Given the description of an element on the screen output the (x, y) to click on. 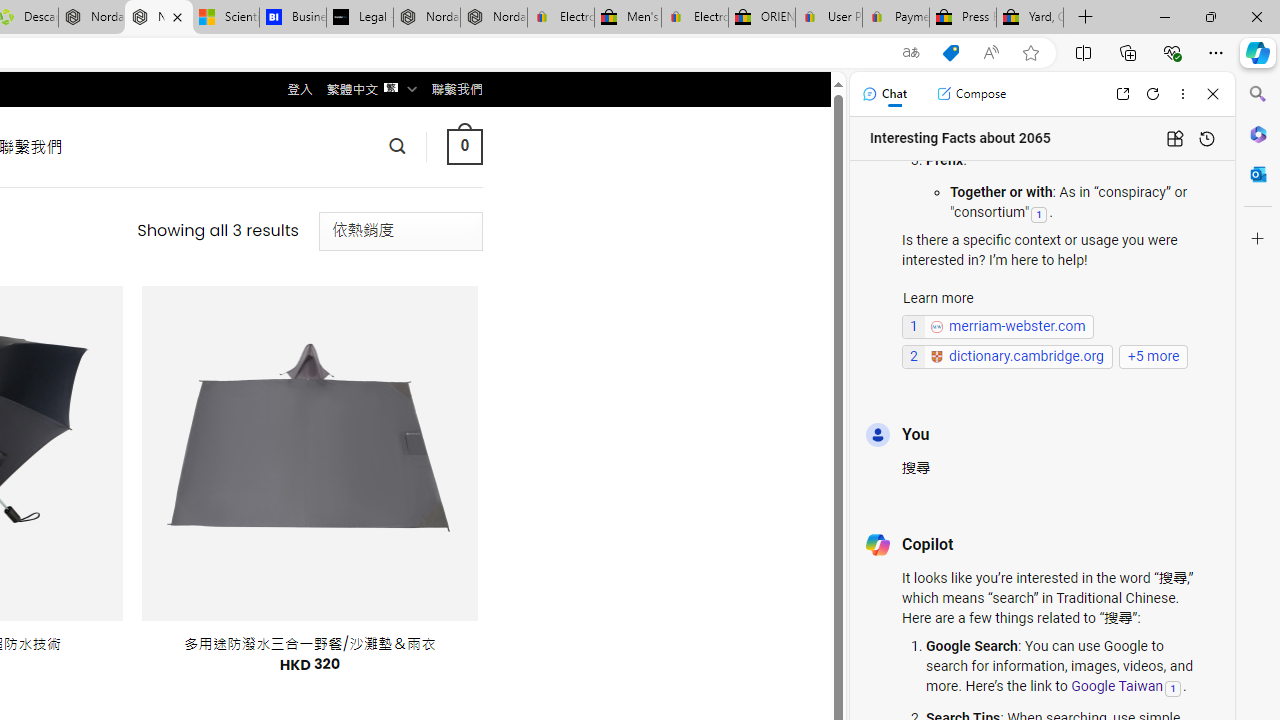
Yard, Garden & Outdoor Living (1030, 17)
Show translate options (910, 53)
Press Room - eBay Inc. (962, 17)
Minimize Search pane (1258, 94)
Payments Terms of Use | eBay.com (895, 17)
Chat (884, 93)
